Given the description of an element on the screen output the (x, y) to click on. 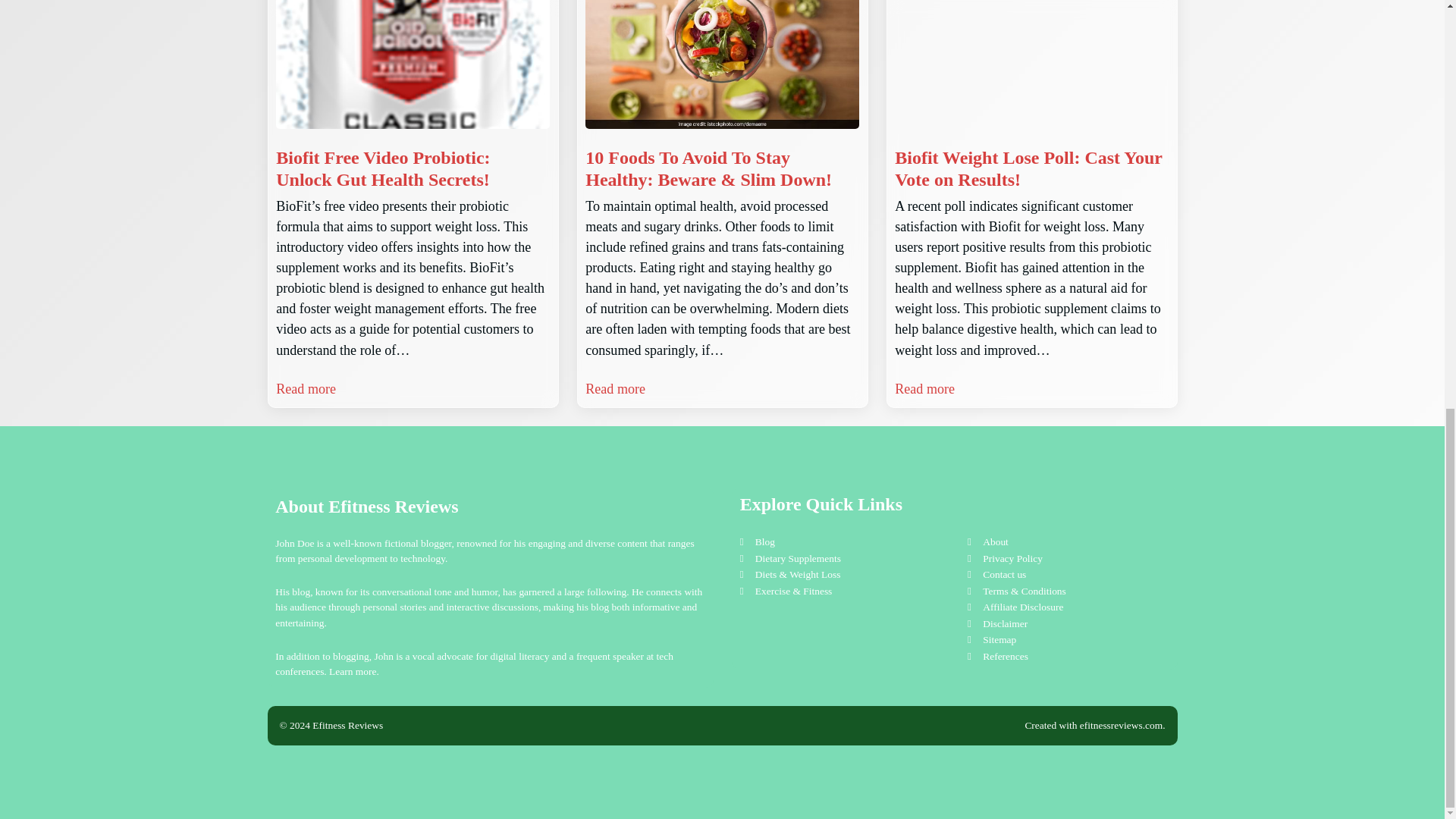
Dietary Supplements (798, 558)
Privacy Policy (1012, 558)
Blog (764, 541)
Affiliate Disclosure (1022, 606)
efitnessreviews.com (1120, 725)
Contact us (1004, 573)
Biofit Free Video Probiotic: Unlock Gut Health Secrets! (413, 168)
Efitness Reviews (393, 506)
Read more (615, 389)
References (1004, 655)
Sitemap (999, 639)
Read more (925, 389)
Biofit Weight Lose Poll: Cast Your Vote on Results! (1032, 168)
Learn more (352, 671)
About (995, 541)
